Given the description of an element on the screen output the (x, y) to click on. 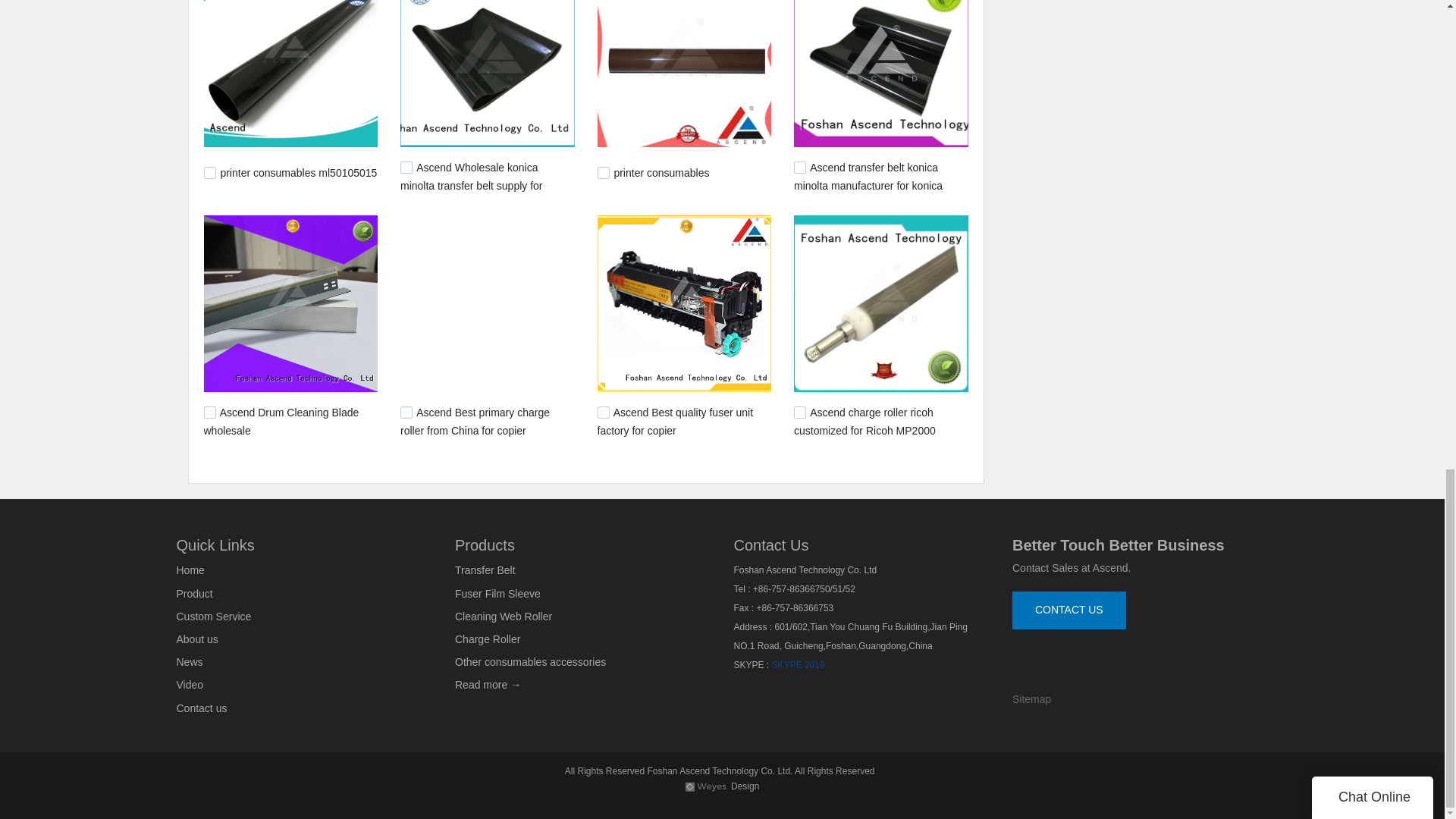
1100 (603, 173)
1008 (799, 412)
1079 (209, 412)
1043 (406, 412)
1129 (406, 167)
Ascend Best quality fuser unit factory for copier (675, 421)
Ascend Drum Cleaning Blade wholesale (280, 421)
printer consumables ml50105015 (298, 173)
1024 (603, 412)
Ascend charge roller ricoh customized for Ricoh MP2000 (864, 421)
printer consumables (660, 173)
1085 (799, 167)
1187 (209, 173)
Ascend Best primary charge roller from China for copier (475, 421)
